Given the description of an element on the screen output the (x, y) to click on. 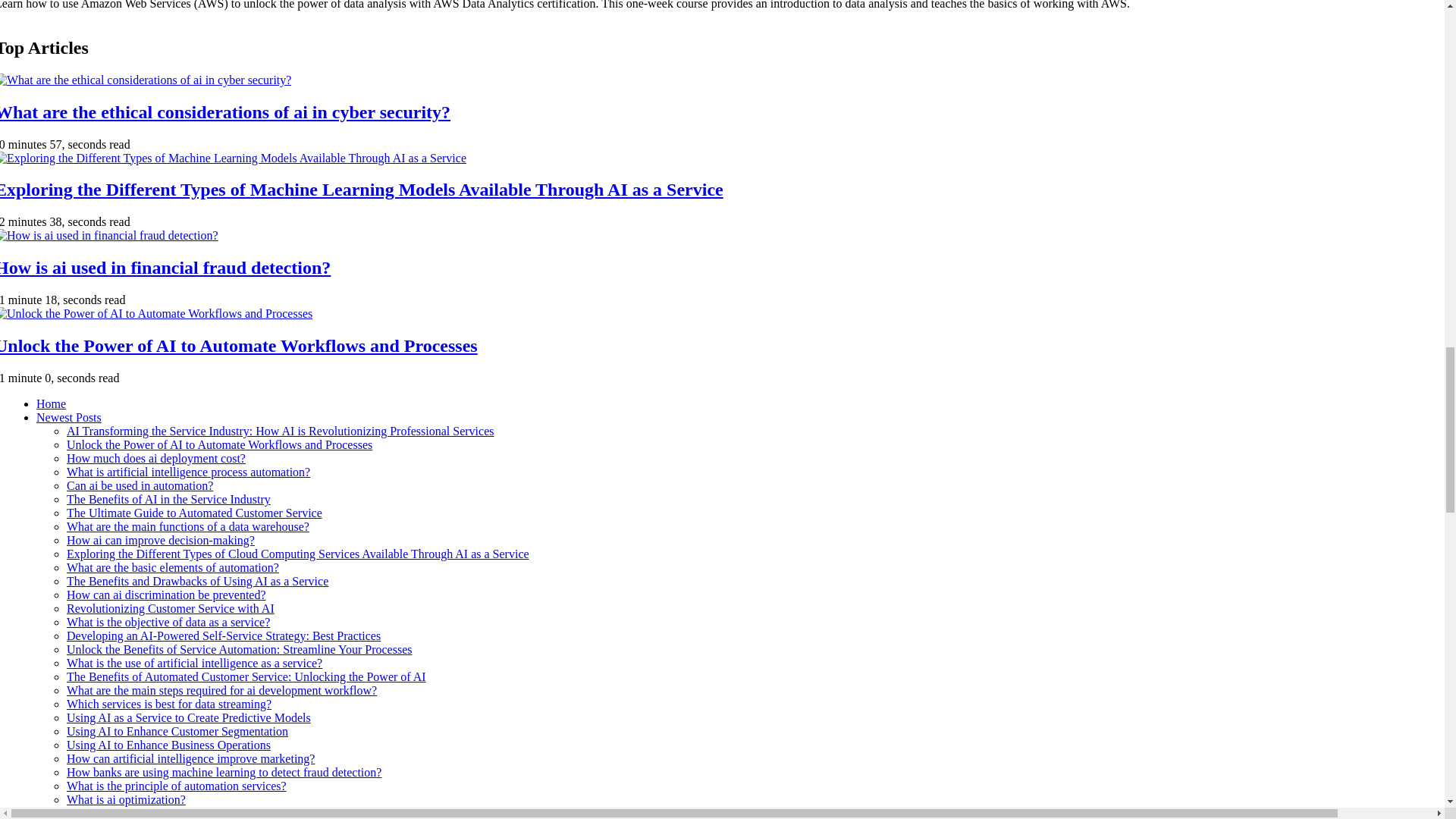
Unlock the Power of AI to Automate Workflows and Processes (238, 345)
What is artificial intelligence process automation? (188, 472)
How ai can improve decision-making? (160, 540)
Unlock the Power of AI to Automate Workflows and Processes (219, 444)
Home (50, 403)
What are the ethical considerations of ai in cyber security? (224, 112)
Revolutionizing Customer Service with AI (170, 608)
